Given the description of an element on the screen output the (x, y) to click on. 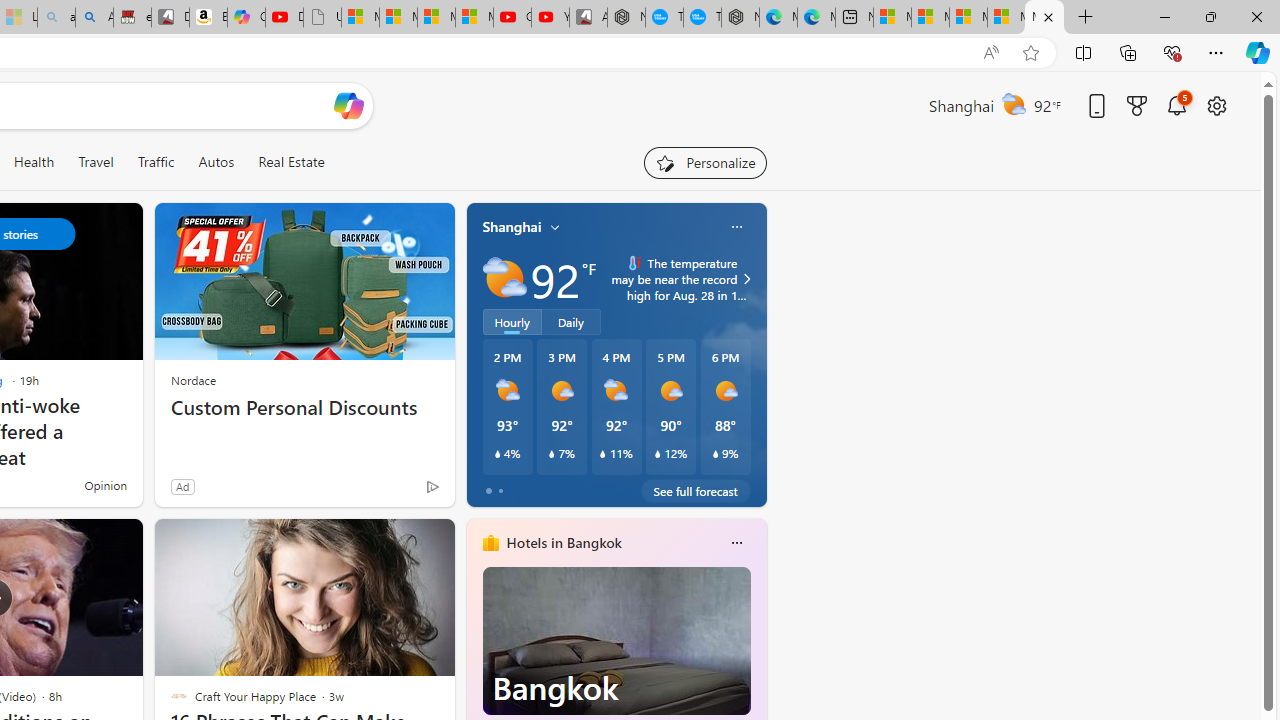
See full forecast (695, 490)
Copilot (245, 17)
hotels-header-icon (490, 542)
Partly sunny (504, 278)
Daily (571, 321)
